Given the description of an element on the screen output the (x, y) to click on. 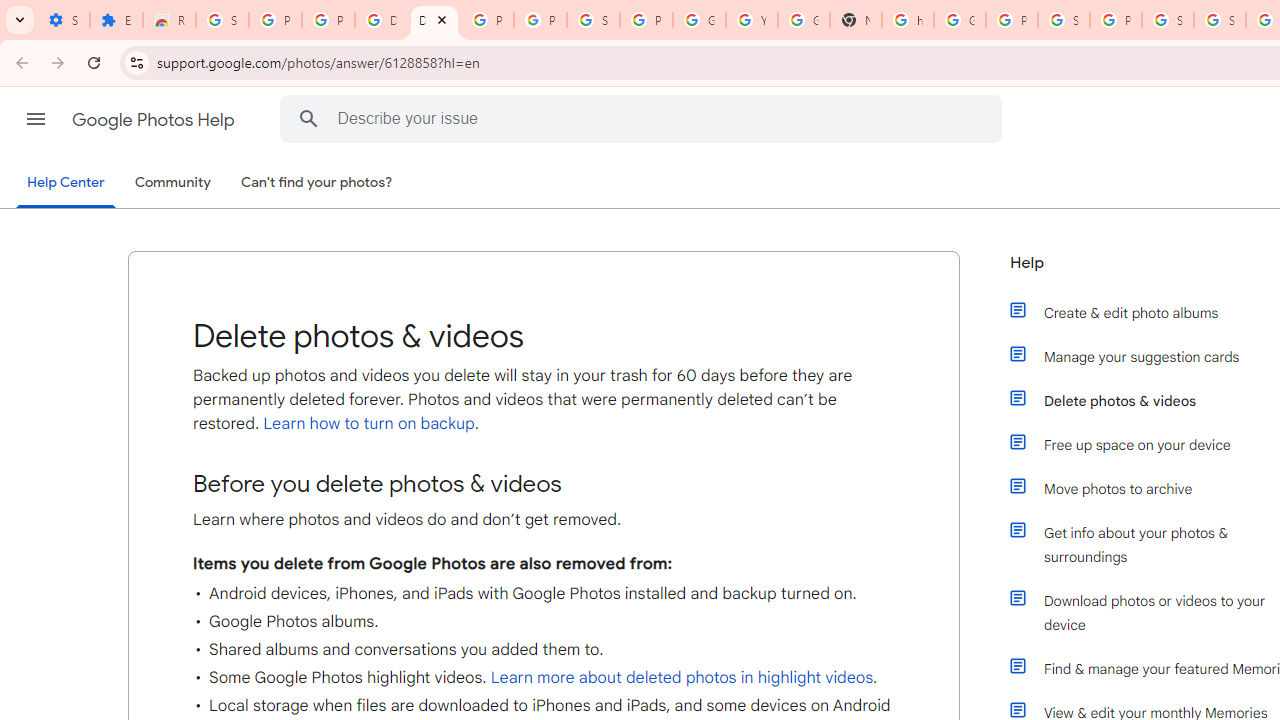
Sign in - Google Accounts (1064, 20)
Extensions (116, 20)
Google Account (699, 20)
Delete photos & videos - Computer - Google Photos Help (381, 20)
Sign in - Google Accounts (1167, 20)
Google Photos Help (155, 119)
Sign in - Google Accounts (222, 20)
Sign in - Google Accounts (1219, 20)
